Given the description of an element on the screen output the (x, y) to click on. 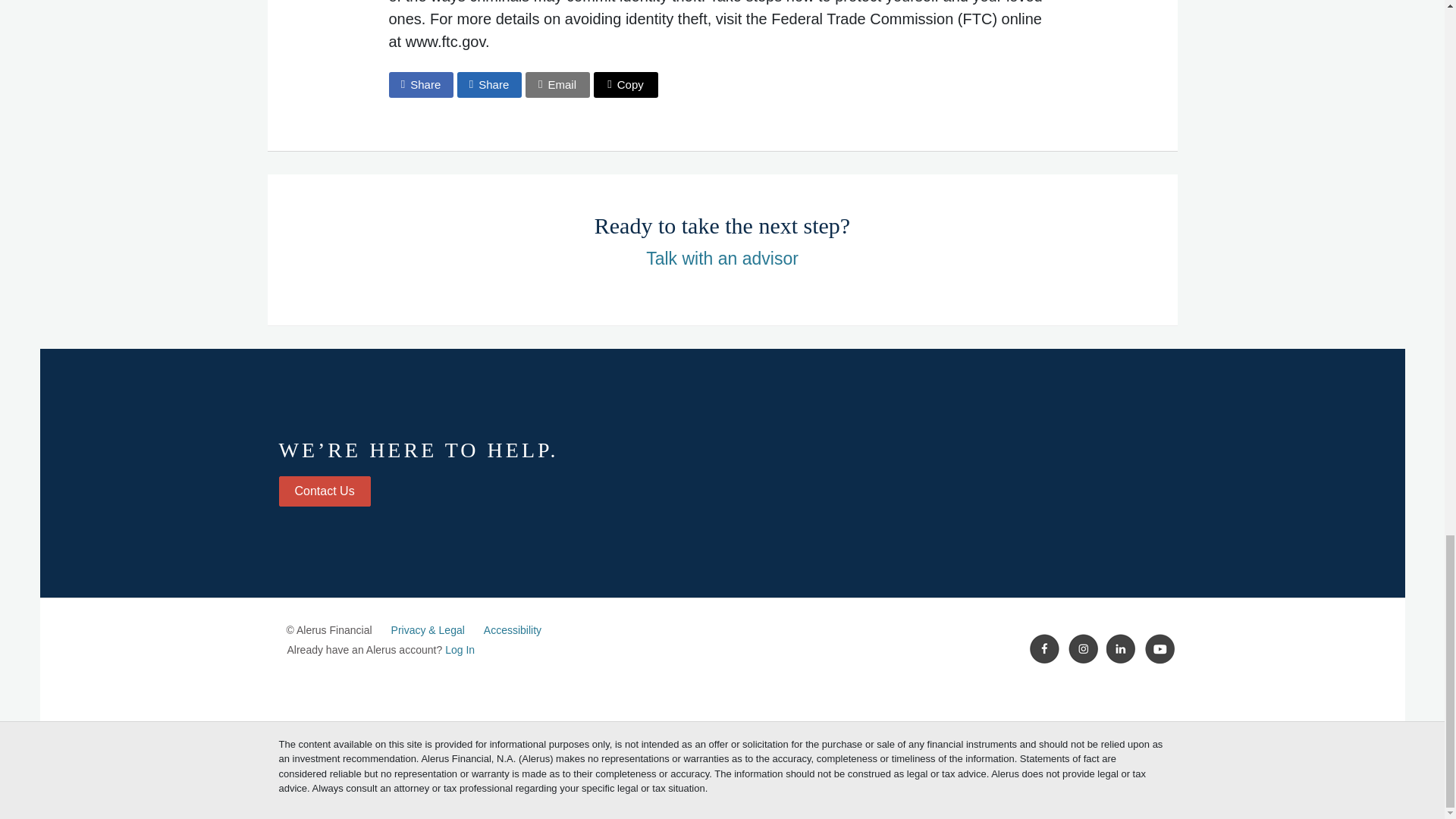
Copy (625, 85)
Accessibility (512, 630)
Email (556, 85)
Facebook (1044, 648)
Instagram (1083, 648)
Youtube (1159, 648)
Share (420, 85)
Share (489, 85)
Log In (459, 649)
LinkedIn (1121, 648)
Talk with an advisor (721, 258)
Contact Us (325, 490)
